Given the description of an element on the screen output the (x, y) to click on. 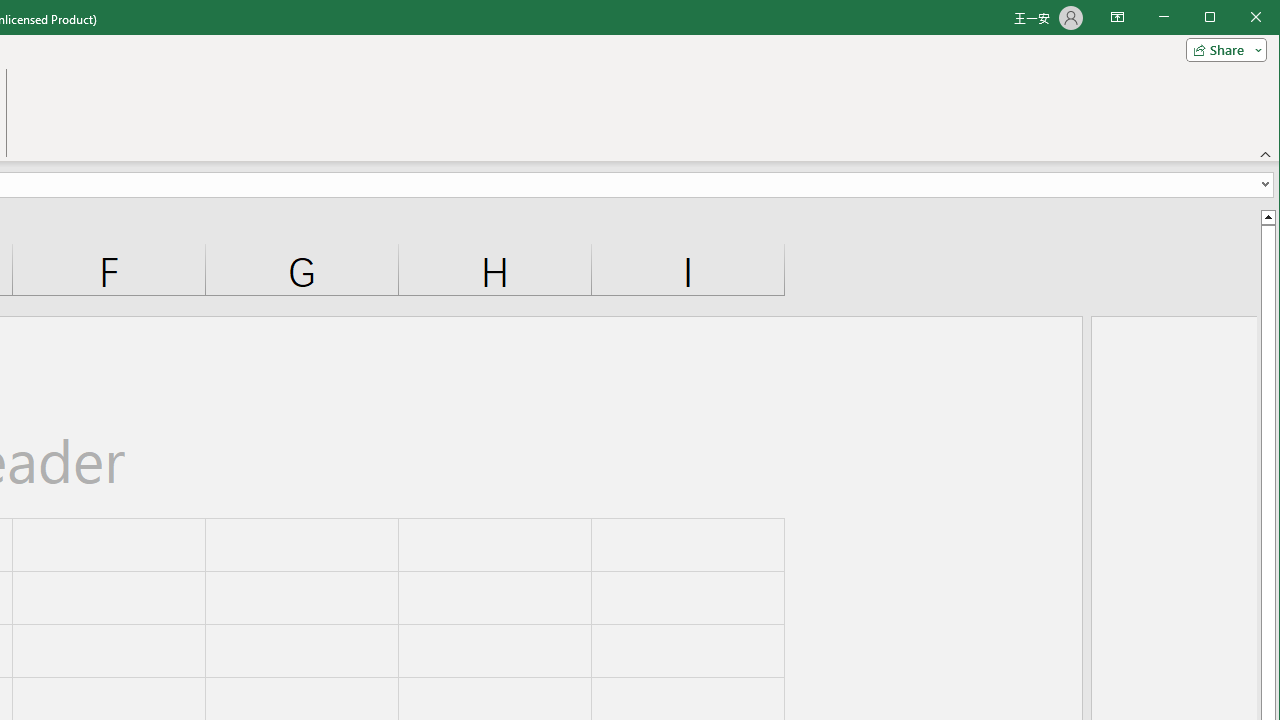
Maximize (1238, 18)
